Given the description of an element on the screen output the (x, y) to click on. 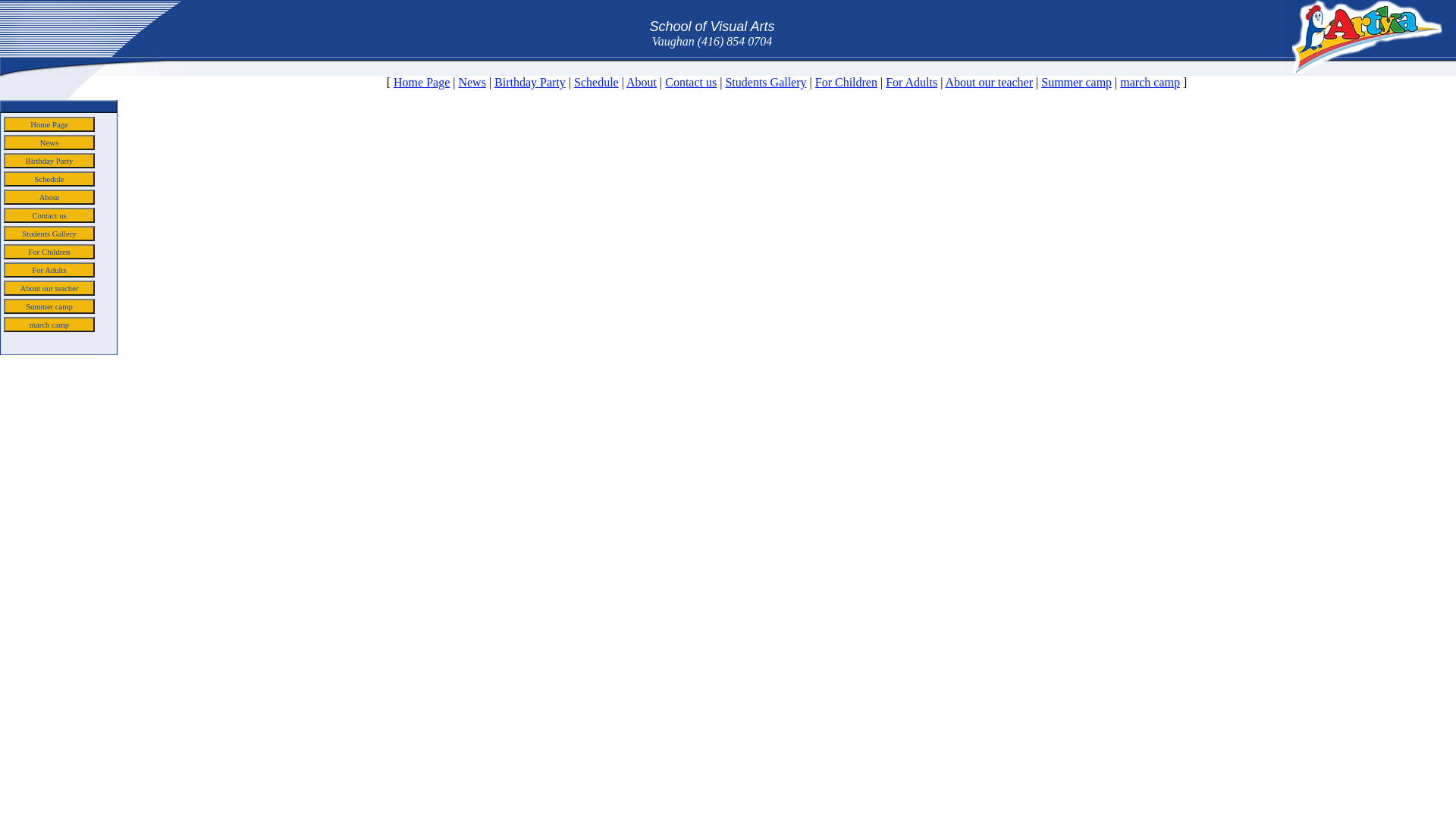
Birthday Party Element type: text (529, 81)
Summer camp Element type: text (48, 305)
Summer camp Element type: text (1076, 81)
Schedule Element type: text (596, 81)
Home Page Element type: text (421, 81)
For Adults Element type: text (48, 269)
Schedule Element type: text (48, 178)
Birthday Party Element type: text (48, 160)
For Children Element type: text (846, 81)
About Element type: text (641, 81)
Home Page Element type: text (48, 123)
Students Gallery Element type: text (48, 233)
About Element type: text (48, 196)
News Element type: text (471, 81)
march camp Element type: text (48, 324)
About our teacher Element type: text (48, 287)
About our teacher Element type: text (989, 81)
Contact us Element type: text (690, 81)
For Children Element type: text (48, 251)
Contact us Element type: text (48, 214)
march camp Element type: text (1149, 81)
For Adults Element type: text (911, 81)
News Element type: text (48, 142)
Students Gallery Element type: text (765, 81)
